Given the description of an element on the screen output the (x, y) to click on. 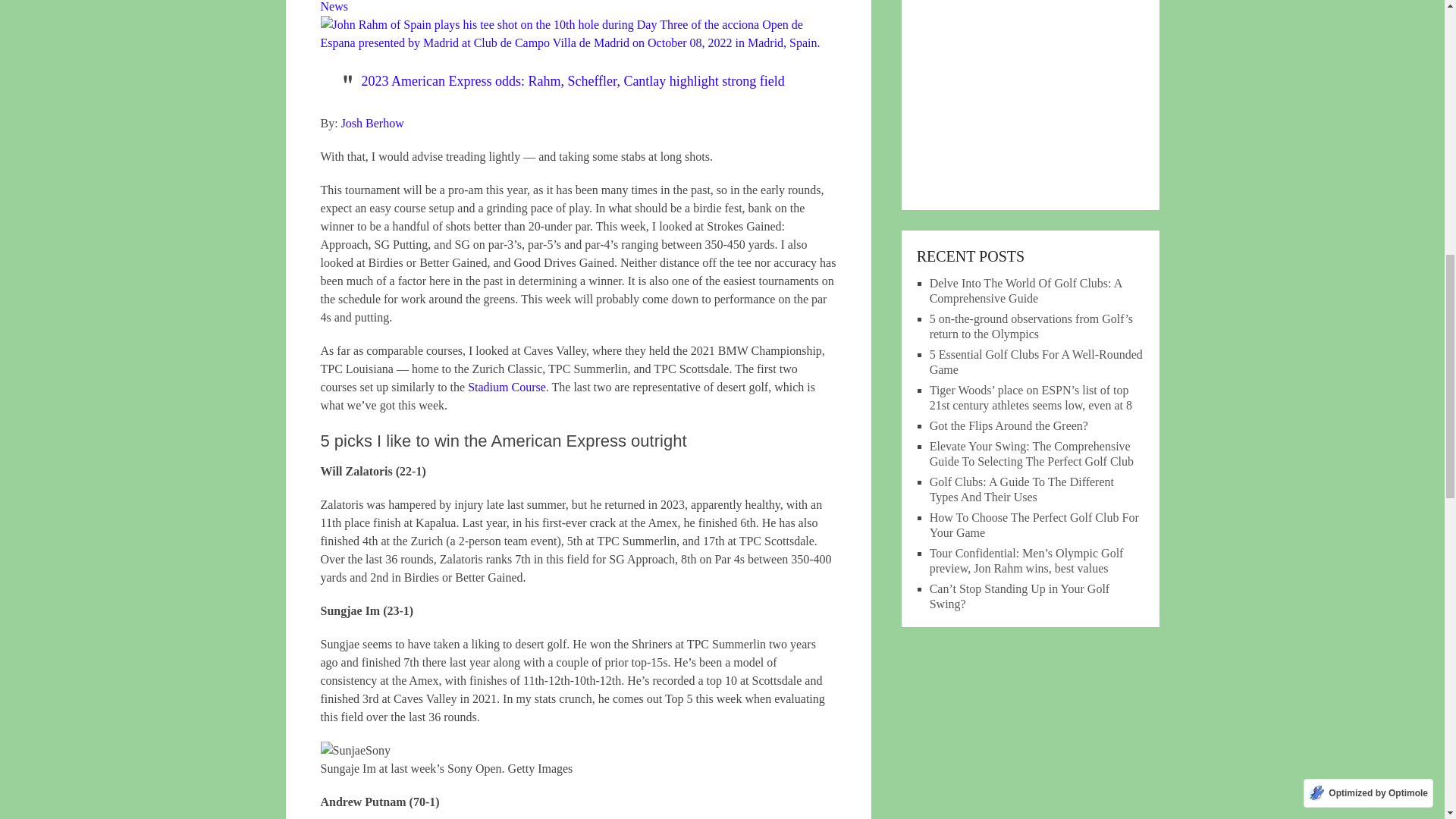
Delve Into The World Of Golf Clubs: A Comprehensive Guide (1026, 290)
5 Essential Golf Clubs For A Well-Rounded Game (1036, 361)
News (333, 6)
Stadium Course (506, 386)
Josh Berhow (372, 123)
